Given the description of an element on the screen output the (x, y) to click on. 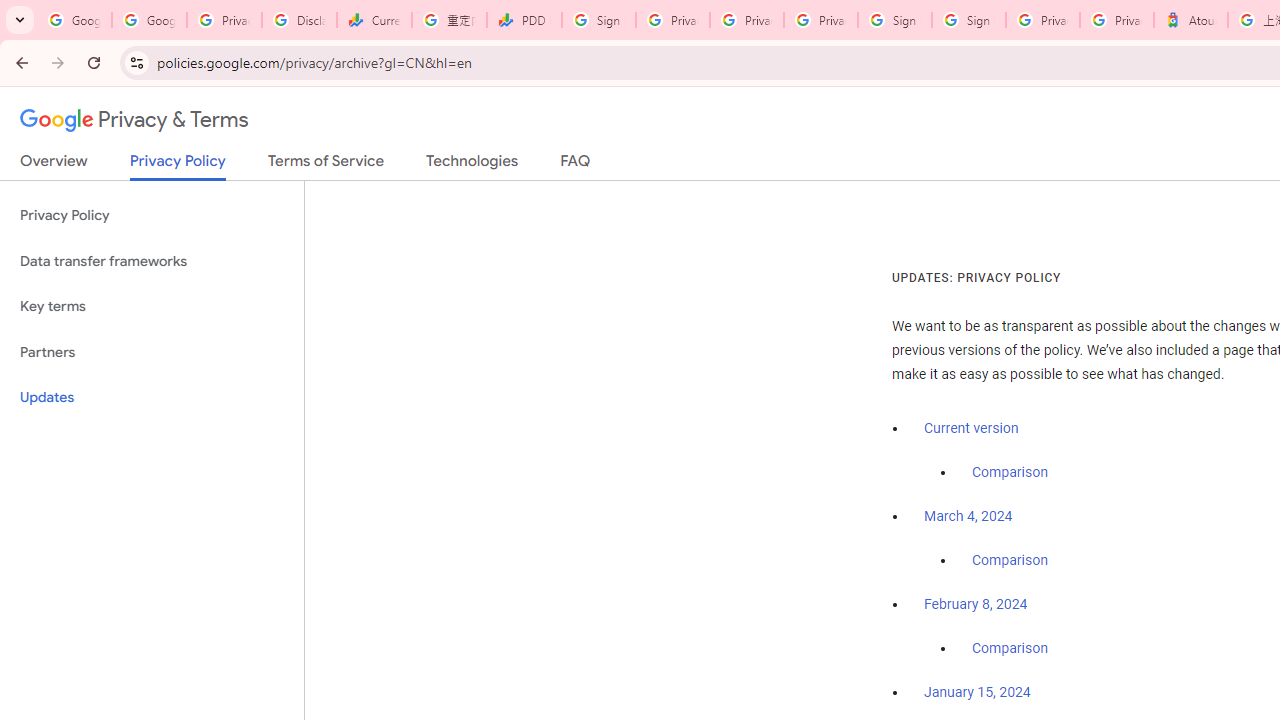
PDD Holdings Inc - ADR (PDD) Price & News - Google Finance (523, 20)
Google Workspace Admin Community (74, 20)
January 15, 2024 (977, 693)
Atour Hotel - Google hotels (1190, 20)
February 8, 2024 (975, 605)
